Given the description of an element on the screen output the (x, y) to click on. 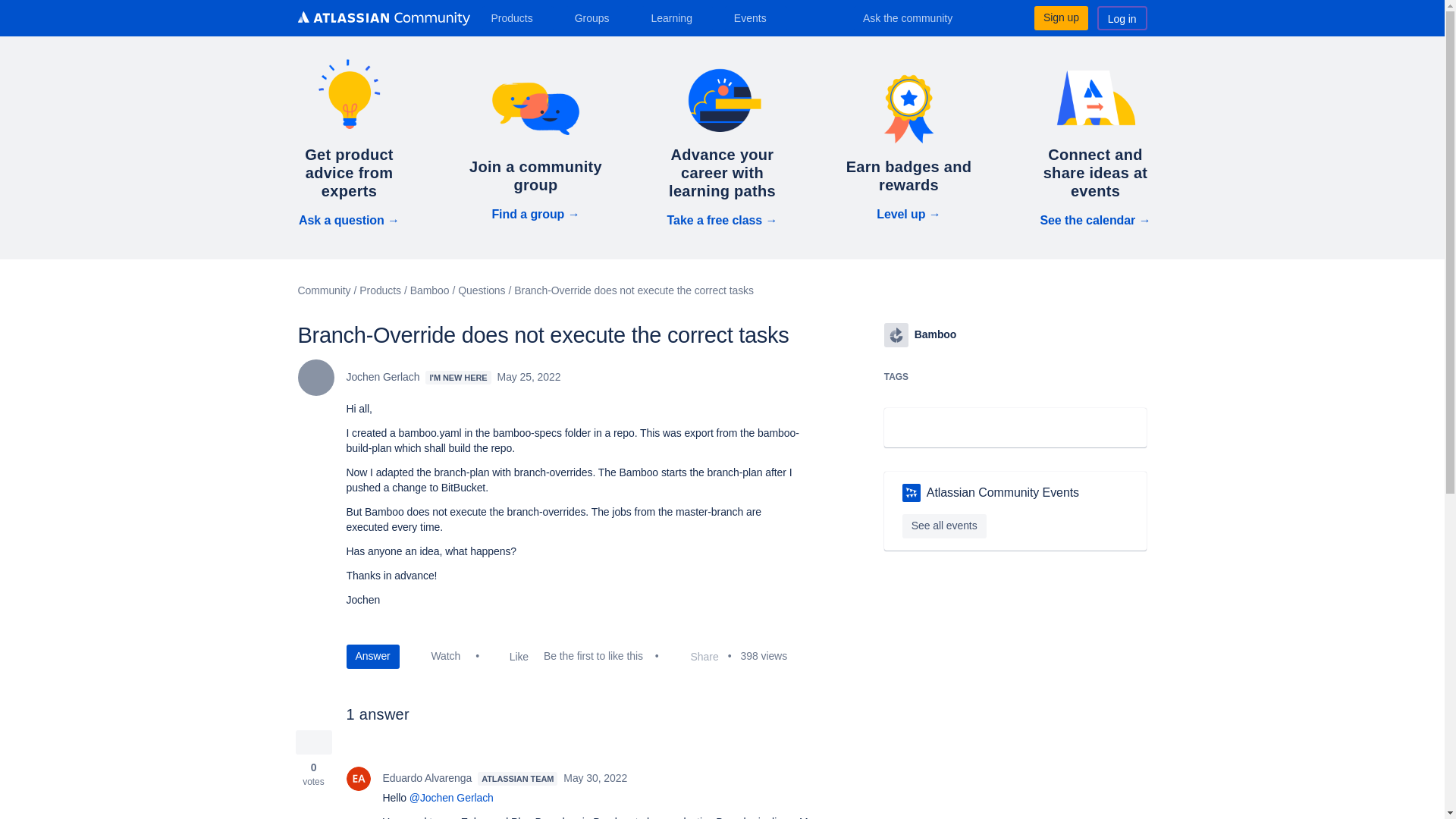
AUG Leaders (911, 493)
Atlassian Community logo (382, 19)
Eduardo Alvarenga (357, 778)
Atlassian Community logo (382, 18)
Learning (676, 17)
Log in (1122, 17)
Products (517, 17)
Groups (598, 17)
Sign up (1060, 17)
Ask the community  (917, 17)
Jochen Gerlach (315, 377)
Bamboo (895, 334)
Events (756, 17)
